Given the description of an element on the screen output the (x, y) to click on. 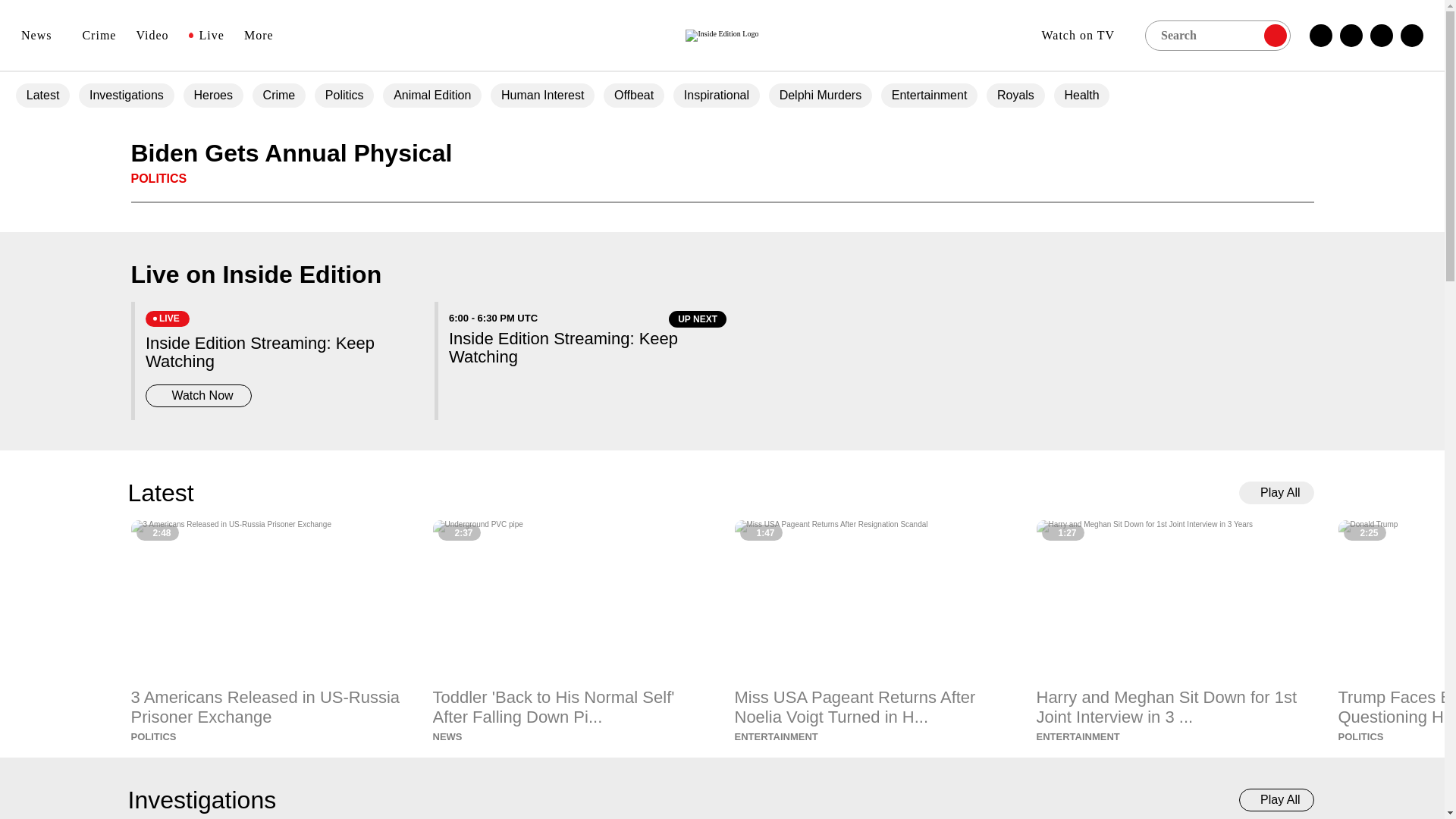
More (263, 35)
Video (151, 35)
Crime (98, 35)
News (41, 35)
Enter the terms you wish to search for. (1217, 34)
Watch on TV (1083, 35)
Live (206, 35)
